Given the description of an element on the screen output the (x, y) to click on. 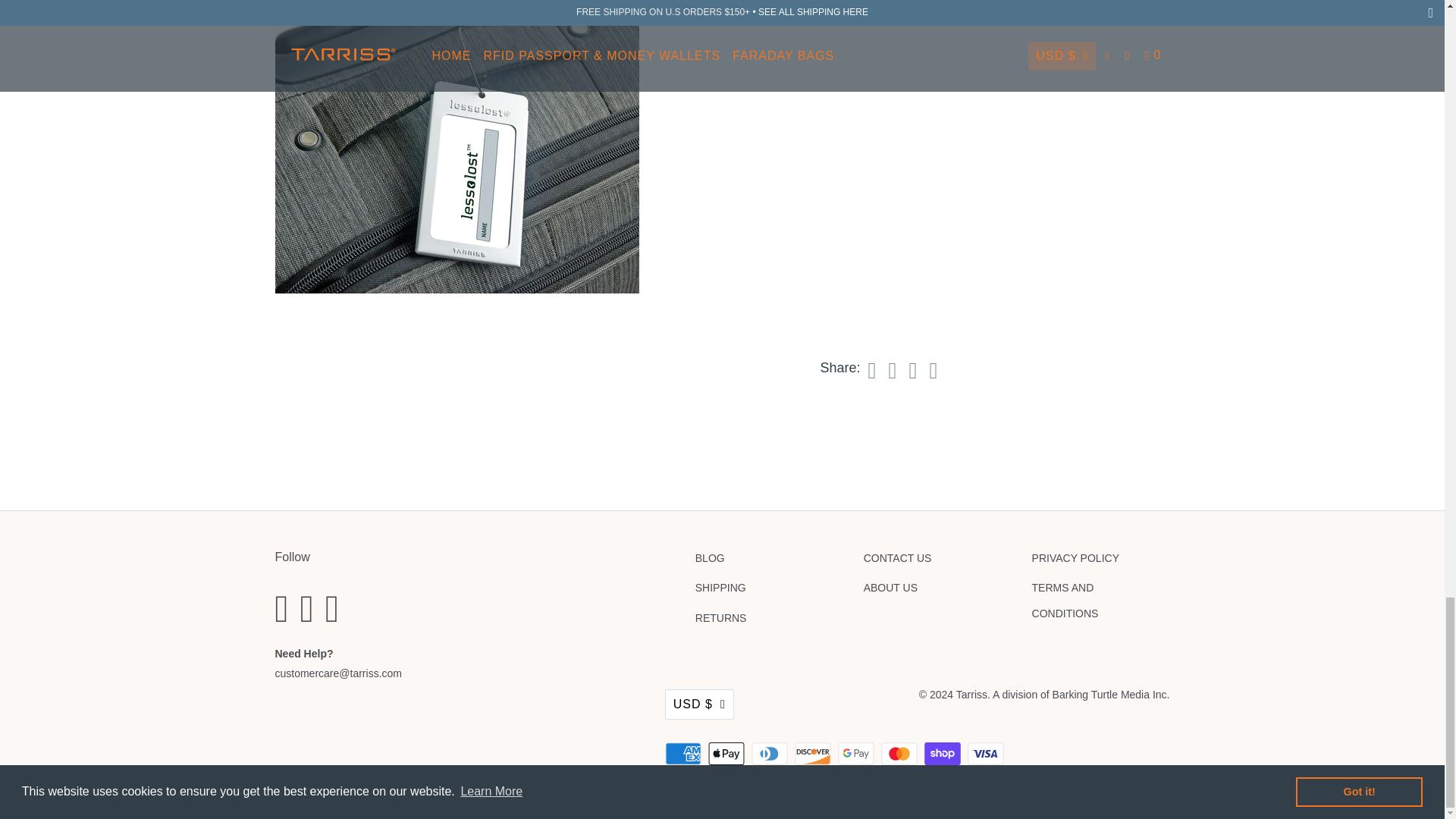
Shop Pay (943, 753)
Google Pay (857, 753)
Mastercard (900, 753)
Discover (814, 753)
Diners Club (770, 753)
Apple Pay (727, 753)
American Express (684, 753)
Visa (987, 753)
